Given the description of an element on the screen output the (x, y) to click on. 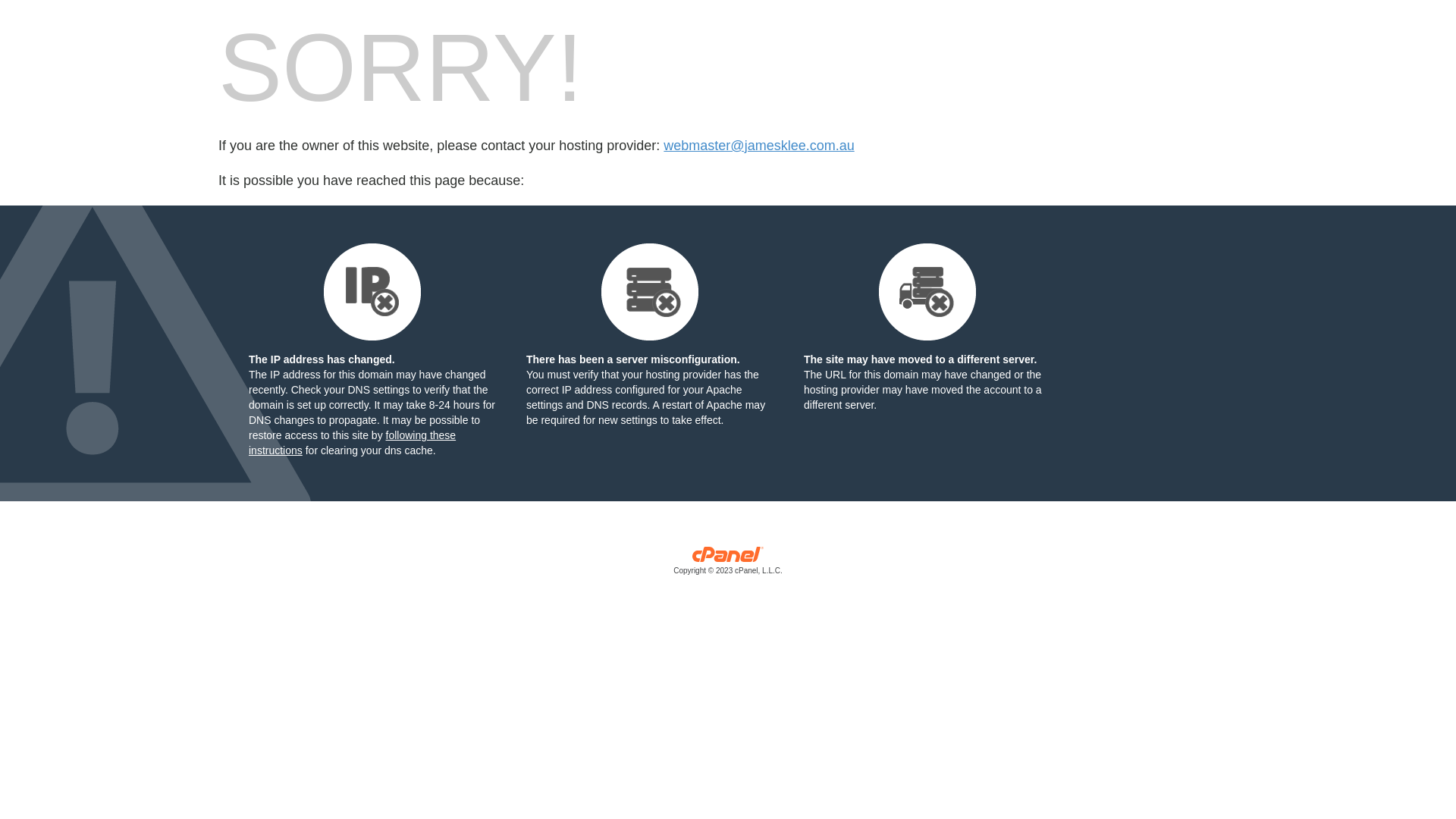
webmaster@jamesklee.com.au Element type: text (758, 145)
following these instructions Element type: text (351, 442)
